Given the description of an element on the screen output the (x, y) to click on. 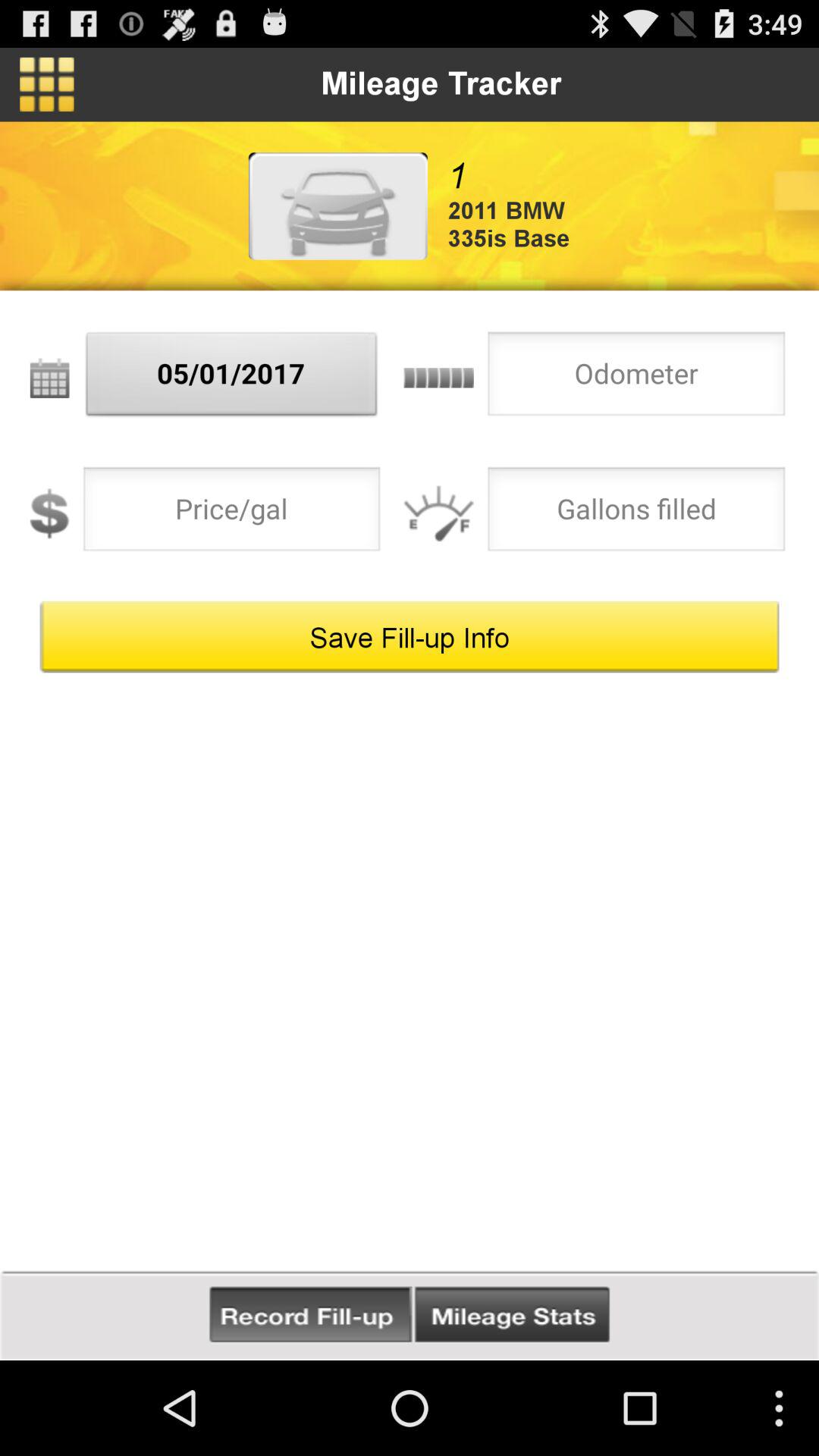
go to record fill-up (310, 1315)
